Given the description of an element on the screen output the (x, y) to click on. 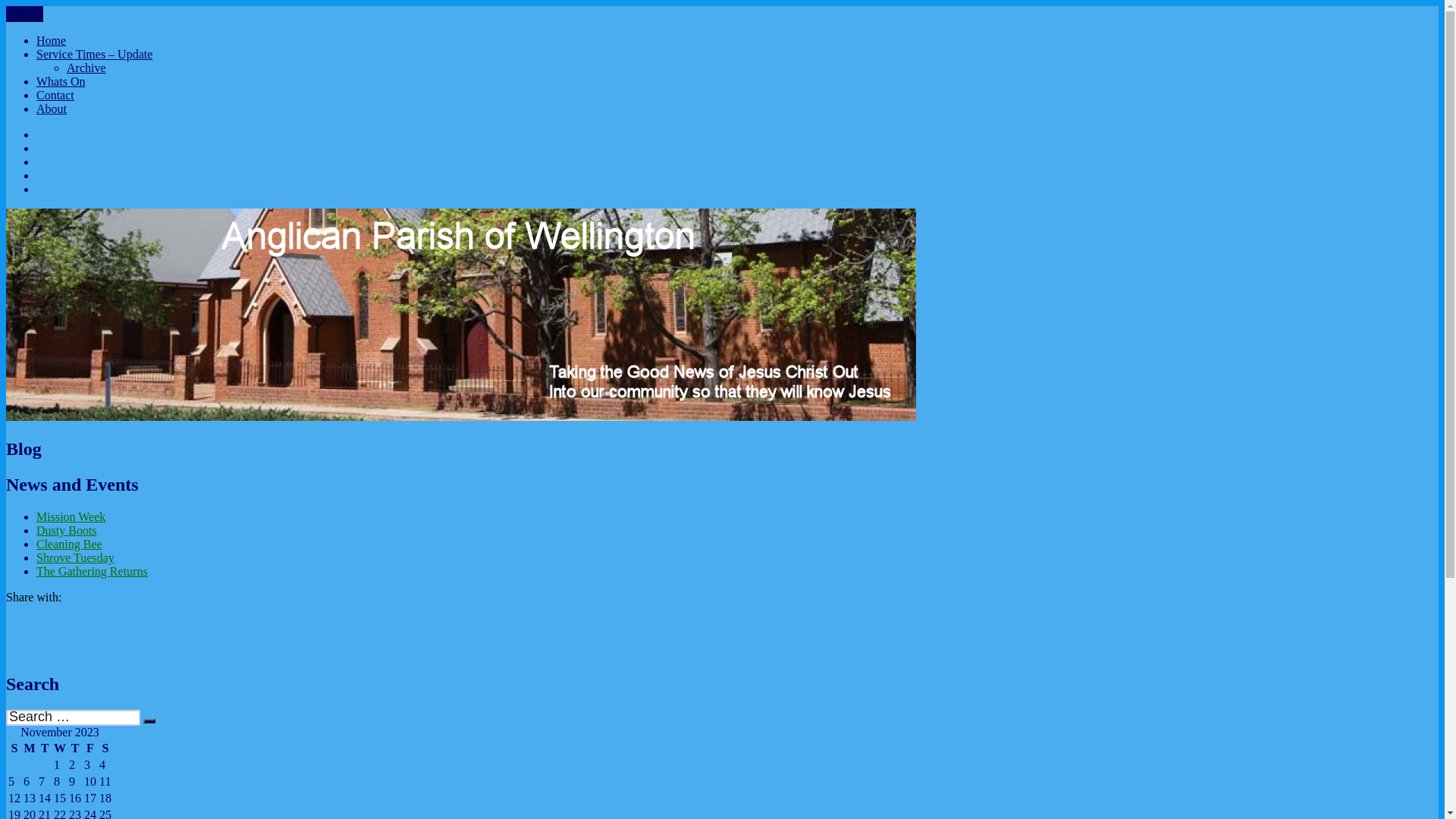
Home Element type: text (50, 40)
About Element type: text (51, 108)
Shrove Tuesday Element type: text (75, 557)
Anglican Parish of Wellington Element type: text (79, 24)
Whats On Element type: text (60, 81)
Mission Week Element type: text (70, 516)
The Gathering Returns Element type: text (91, 570)
Menu Element type: text (24, 13)
Search Element type: text (149, 720)
Dusty Boots Element type: text (66, 530)
Contact Element type: text (55, 94)
Cleaning Bee Element type: text (69, 543)
Skip to content Element type: text (5, 5)
Archive Element type: text (86, 67)
